Given the description of an element on the screen output the (x, y) to click on. 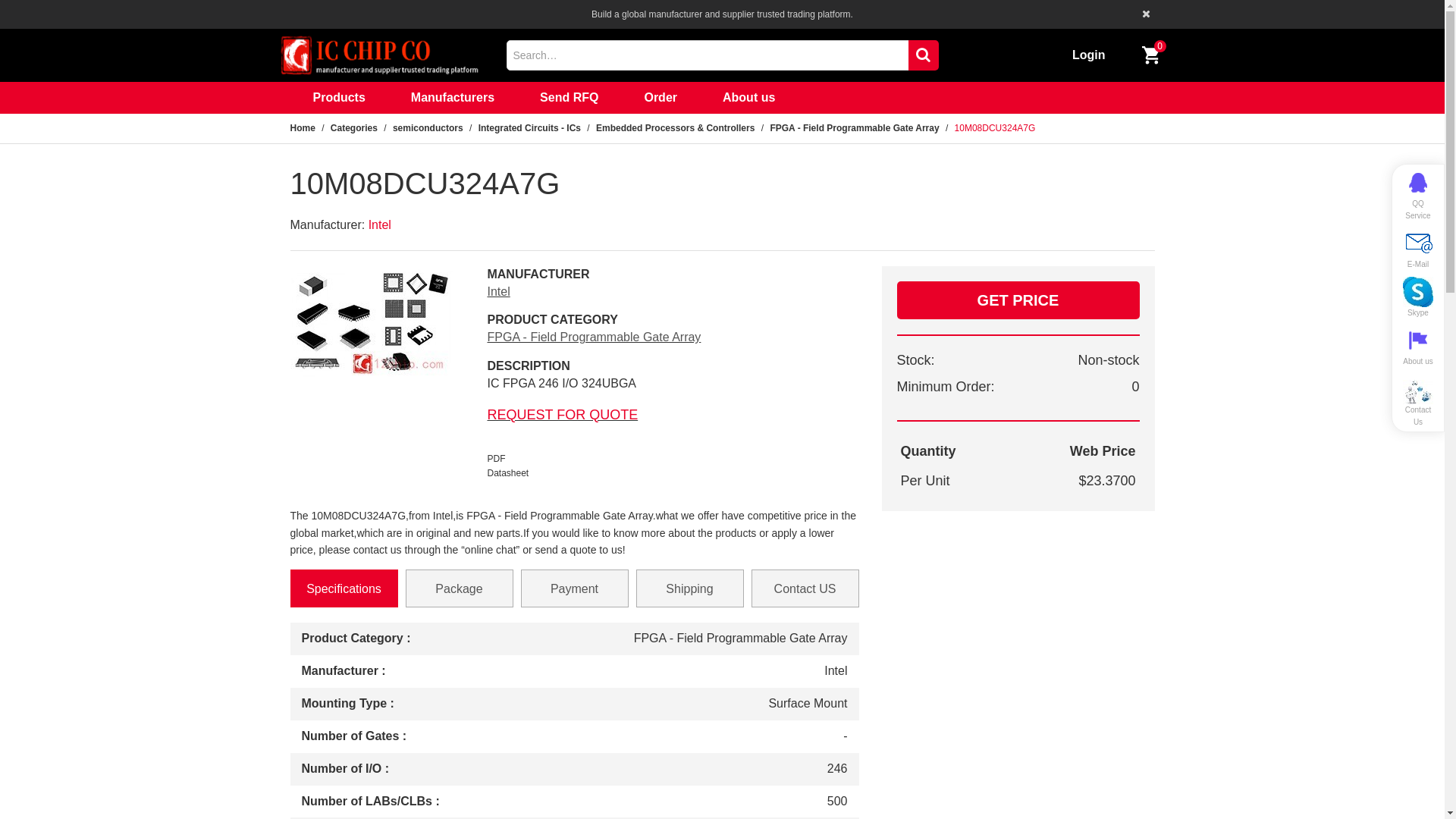
REQUEST FOR QUOTE Element type: text (561, 414)
FPGA - Field Programmable Gate Array Element type: text (853, 127)
Integrated Circuits - ICs Element type: text (529, 127)
semiconductors Element type: text (427, 127)
E-Mail Element type: text (1417, 249)
Order Element type: text (660, 97)
Shipping Element type: text (689, 588)
Send RFQ Element type: text (569, 97)
Contact US Element type: text (804, 588)
About us Element type: text (748, 97)
0 Element type: text (1150, 55)
PDF
Datasheet Element type: text (507, 459)
GET PRICE Element type: text (1017, 300)
About us Element type: text (1417, 346)
Home Element type: text (301, 127)
Intel Element type: text (379, 224)
Skype Element type: text (1417, 297)
Contact Us Element type: text (1417, 403)
Categories Element type: text (353, 127)
Package Element type: text (458, 588)
Manufacturers Element type: text (452, 97)
Products Element type: text (338, 97)
Login Element type: text (1088, 55)
FPGA - Field Programmable Gate Array Element type: text (593, 336)
Payment Element type: text (573, 588)
Specifications Element type: text (343, 588)
Embedded Processors & Controllers Element type: text (675, 127)
QQ Service Element type: text (1417, 194)
Intel Element type: text (497, 291)
